Given the description of an element on the screen output the (x, y) to click on. 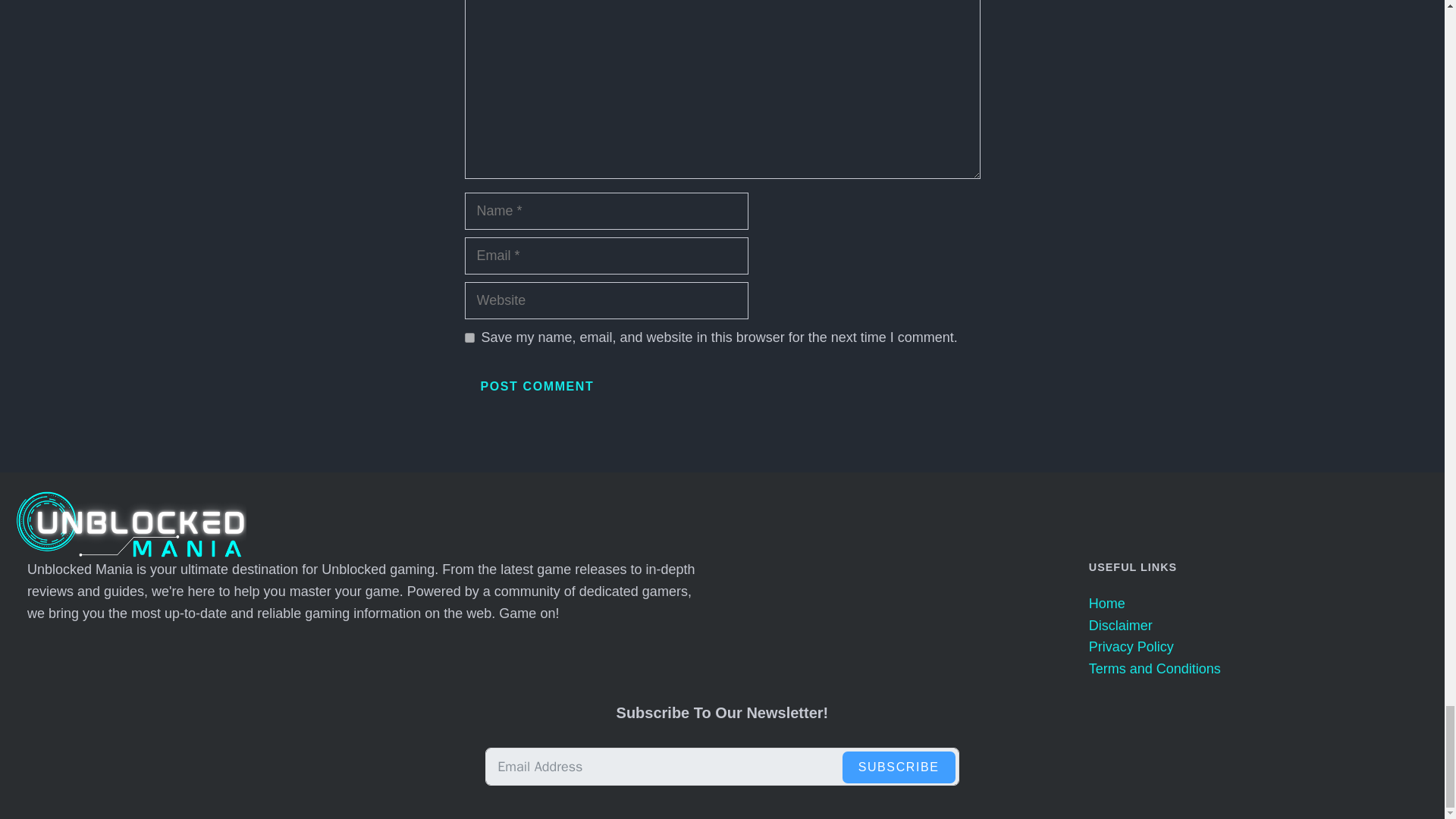
Post Comment (537, 386)
yes (469, 337)
Home (1107, 603)
Disclaimer (1121, 625)
SUBSCRIBE (899, 766)
Terms and Conditions (1155, 668)
Post Comment (537, 386)
Privacy Policy (1131, 646)
